Given the description of an element on the screen output the (x, y) to click on. 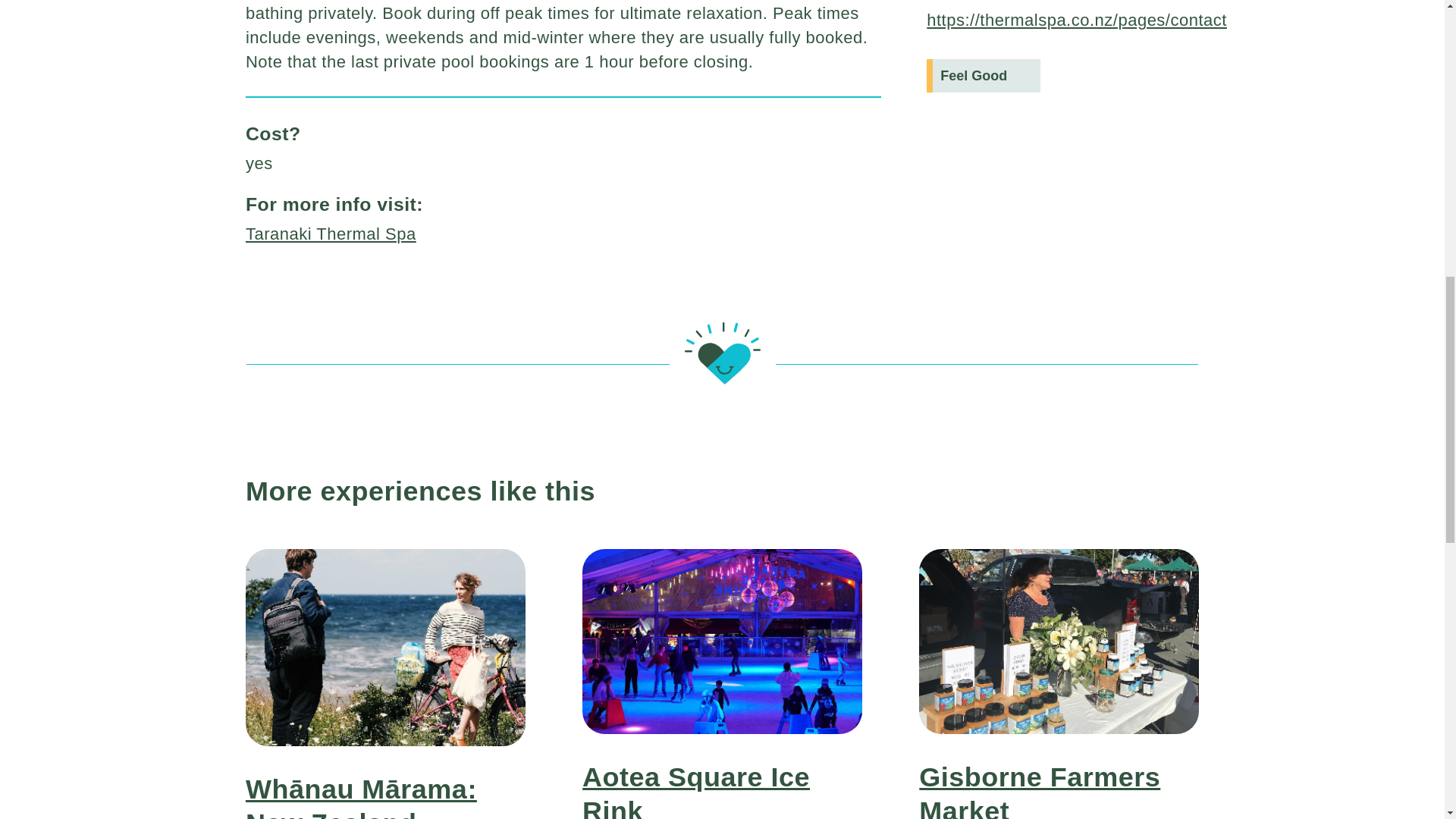
Feel Good (983, 75)
Gisborne Farmers Market (1039, 790)
Aotea Square Ice Rink (695, 790)
Permanent Link to Aotea Square Ice Rink (721, 754)
Permanent Link to Gisborne Farmers Market (1058, 754)
Taranaki Thermal Spa (331, 233)
Permanent Link to Aotea Square Ice Rink (695, 790)
Permanent Link to Gisborne Farmers Market (1039, 790)
